Given the description of an element on the screen output the (x, y) to click on. 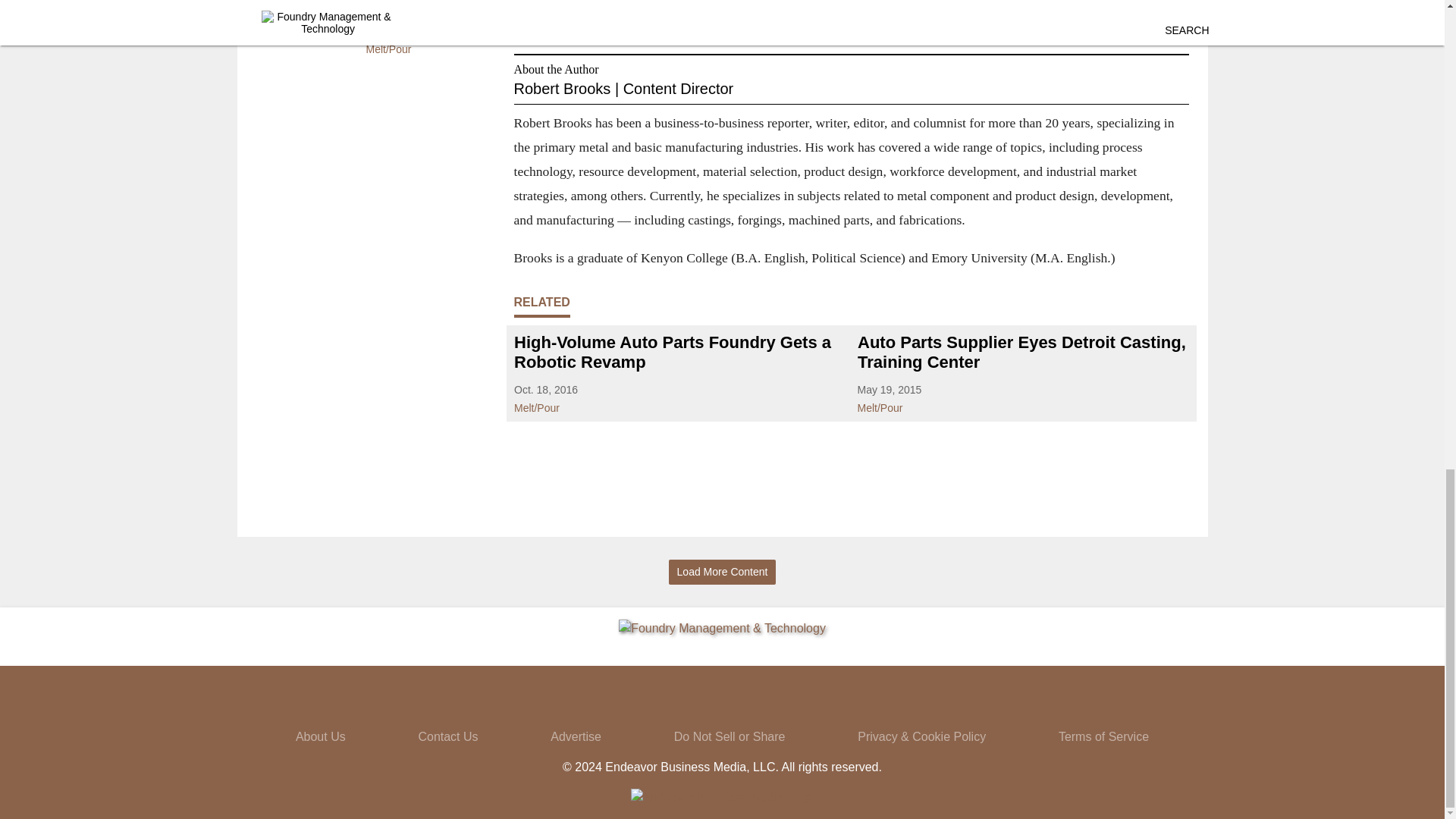
Safran Plans High-Tech Foundry (424, 6)
High-Volume Auto Parts Foundry Gets a Robotic Revamp (679, 352)
